Given the description of an element on the screen output the (x, y) to click on. 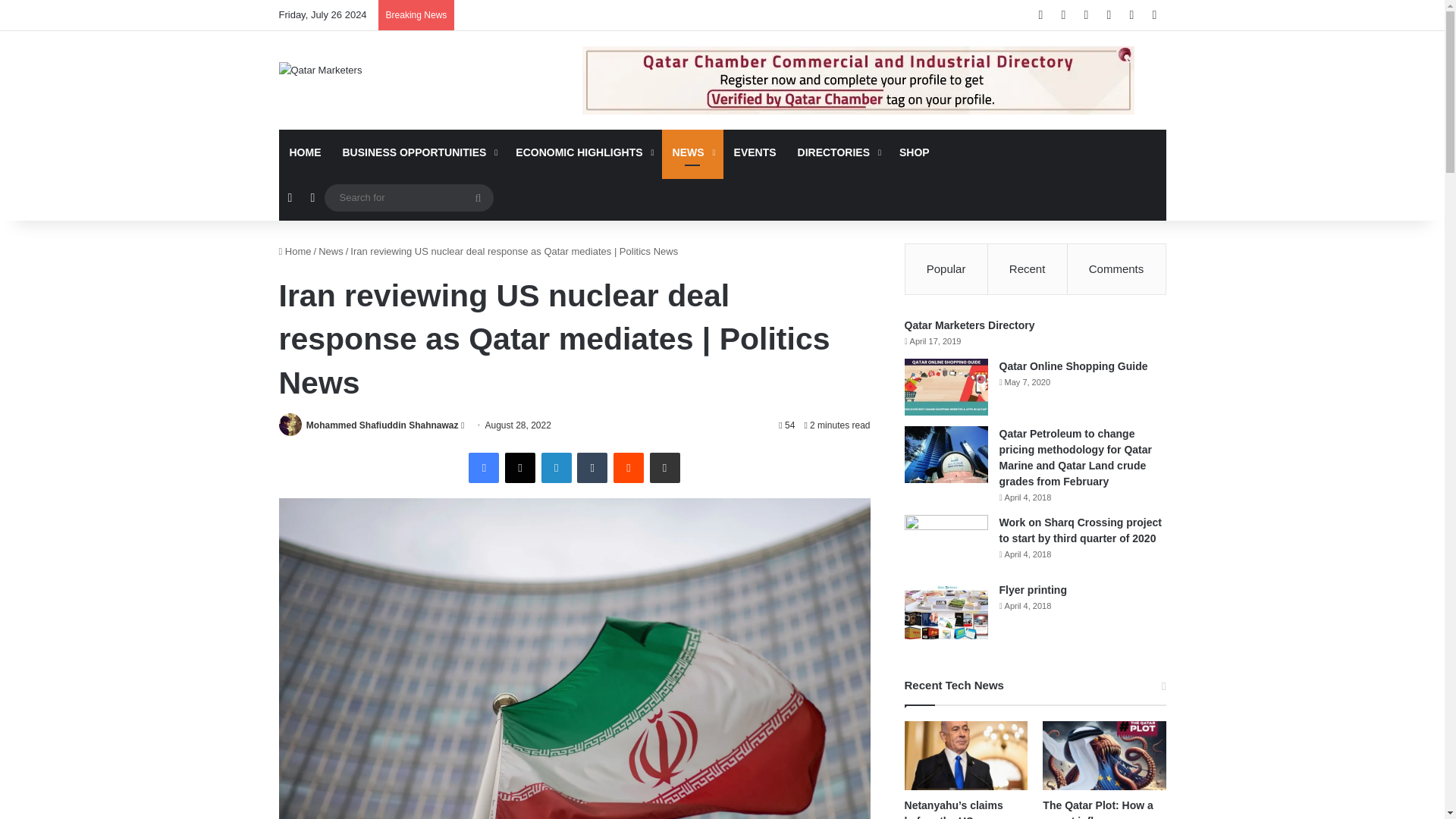
Mohammed Shafiuddin Shahnawaz (381, 425)
DIRECTORIES (837, 152)
Reddit (627, 467)
Share via Email (664, 467)
X (520, 467)
Sidebar (1154, 15)
Log In (1131, 15)
BUSINESS OPPORTUNITIES (418, 152)
YouTube (1086, 15)
Facebook (1040, 15)
ECONOMIC HIGHLIGHTS (583, 152)
Facebook (483, 467)
Tumblr (591, 467)
NEWS (692, 152)
X (1063, 15)
